Given the description of an element on the screen output the (x, y) to click on. 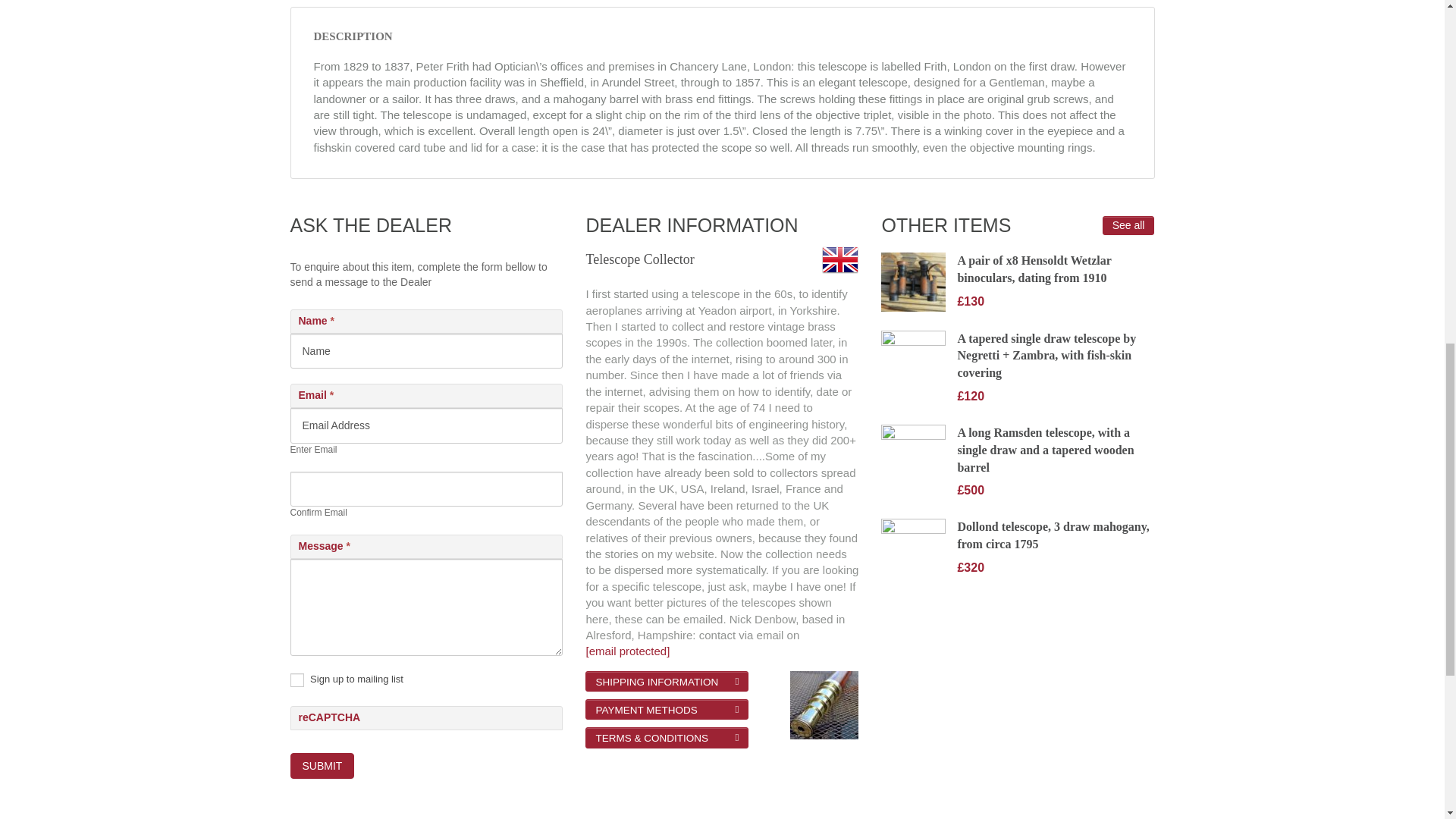
Email Address (425, 425)
Name (425, 350)
Sign up to mailing list (295, 680)
Submit (321, 765)
